Given the description of an element on the screen output the (x, y) to click on. 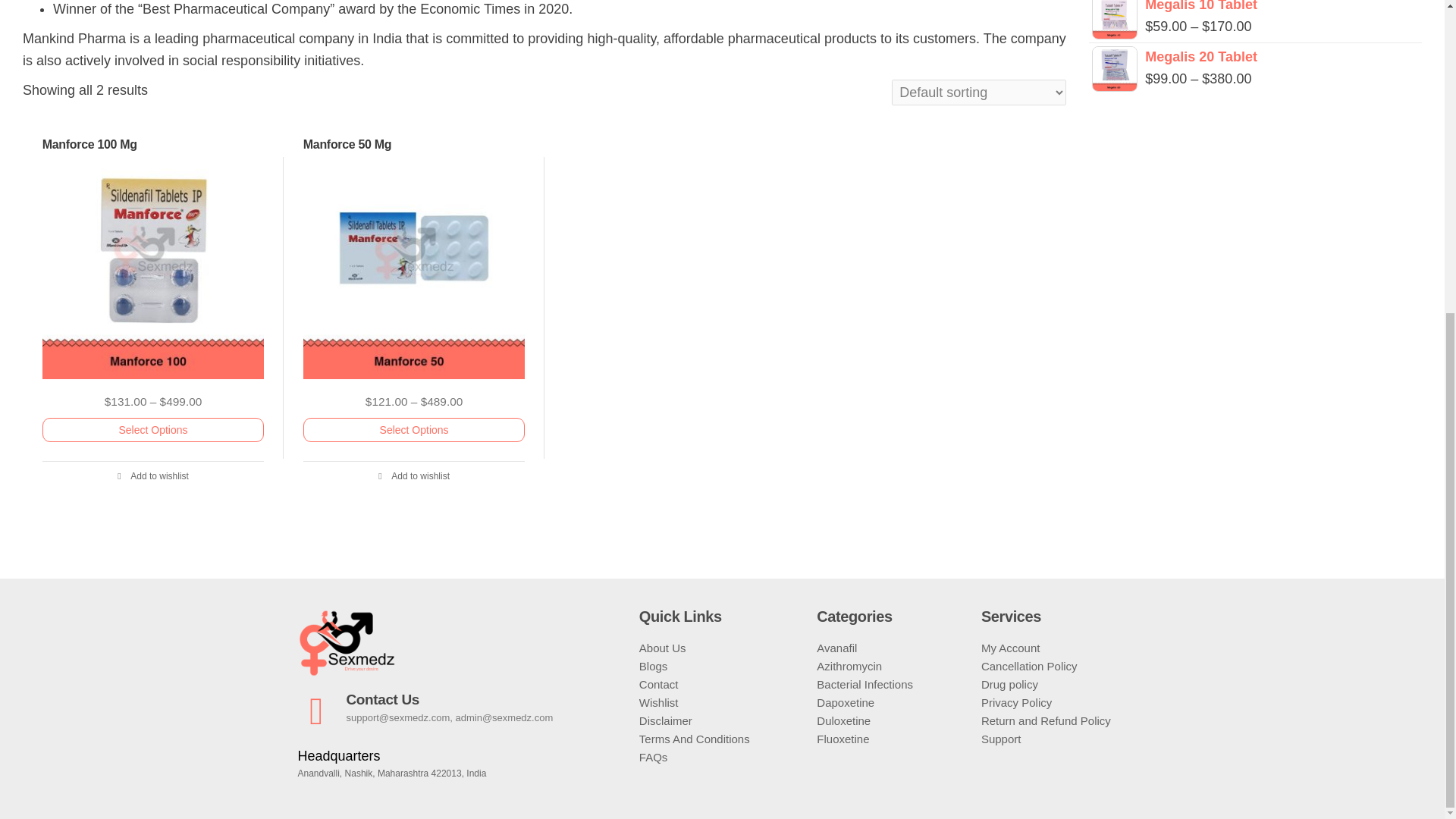
Megalis 10 Tablet (1255, 7)
About Us (720, 648)
Wishlist (720, 702)
Select Options (413, 429)
Select Options (153, 429)
Disclaimer (720, 720)
Blogs (720, 666)
Add to wishlist (413, 475)
Add to wishlist (153, 475)
Megalis 20 Tablet (1255, 56)
Contact (720, 684)
